Given the description of an element on the screen output the (x, y) to click on. 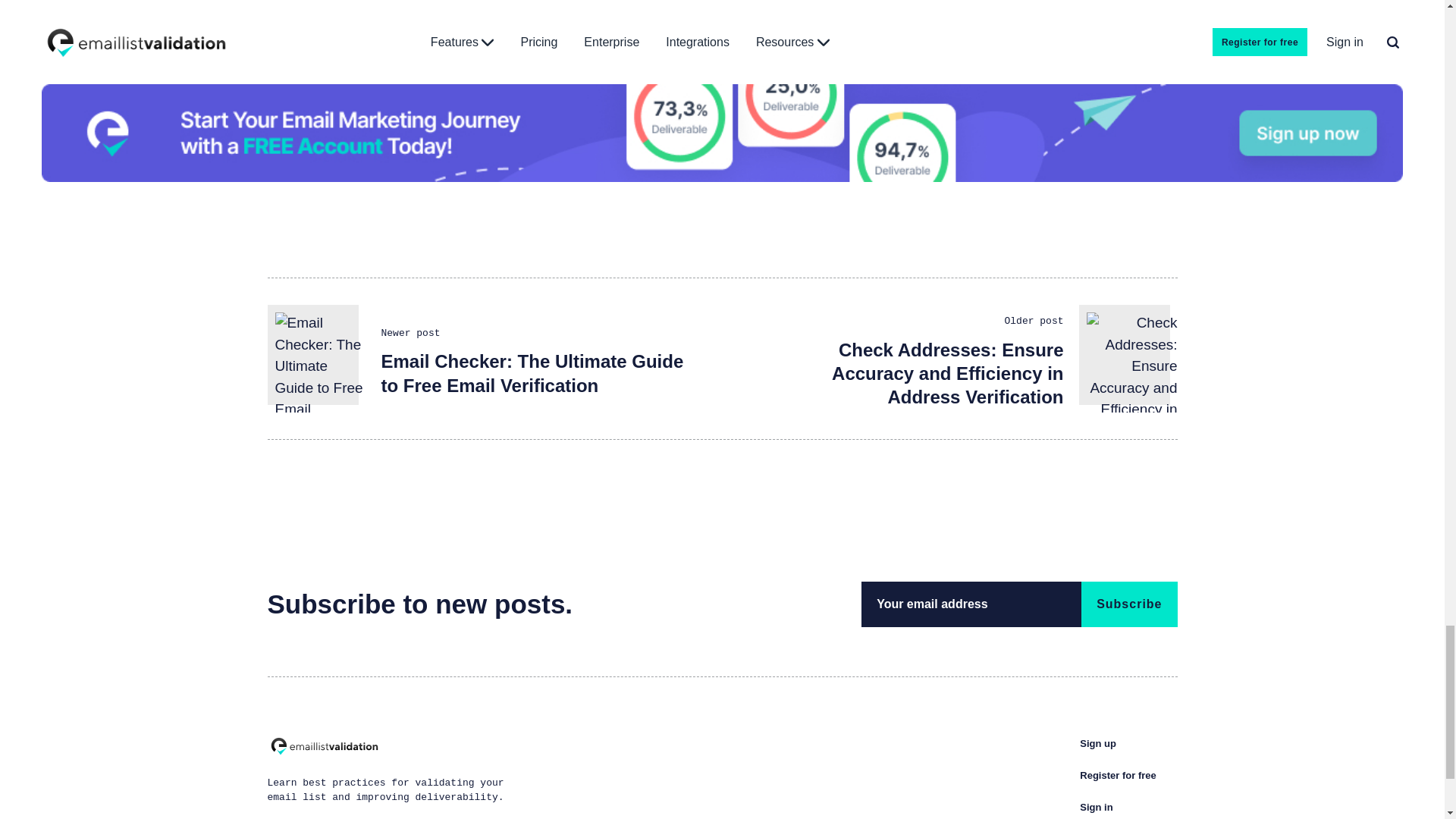
Email Checker: The Ultimate Guide to Free Email Verification (531, 373)
Sign up (1098, 743)
Register for free (1118, 775)
Subscribe (1128, 604)
Sign in (1096, 807)
